Given the description of an element on the screen output the (x, y) to click on. 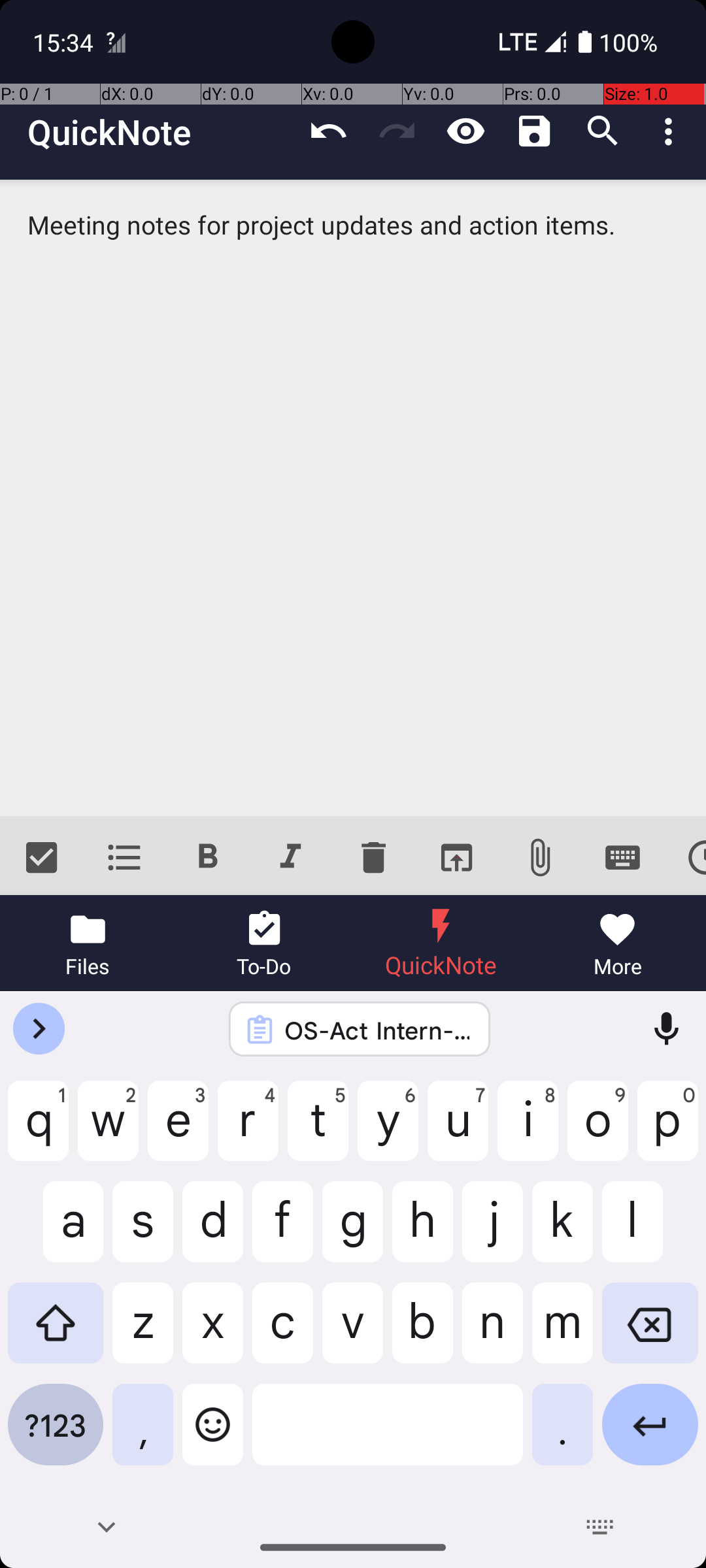
Meeting notes for project updates and action items. Element type: android.widget.EditText (353, 497)
OS-Act	Intern-VL2-4B	✅	240913-3 (OOD) OS-Act	Intern-VL2-4B	✅	240913-4 (OOD) OS-Act	Intern-VL2-4B	✅	240914-1 (OOD) Element type: android.widget.TextView (376, 1029)
